Given the description of an element on the screen output the (x, y) to click on. 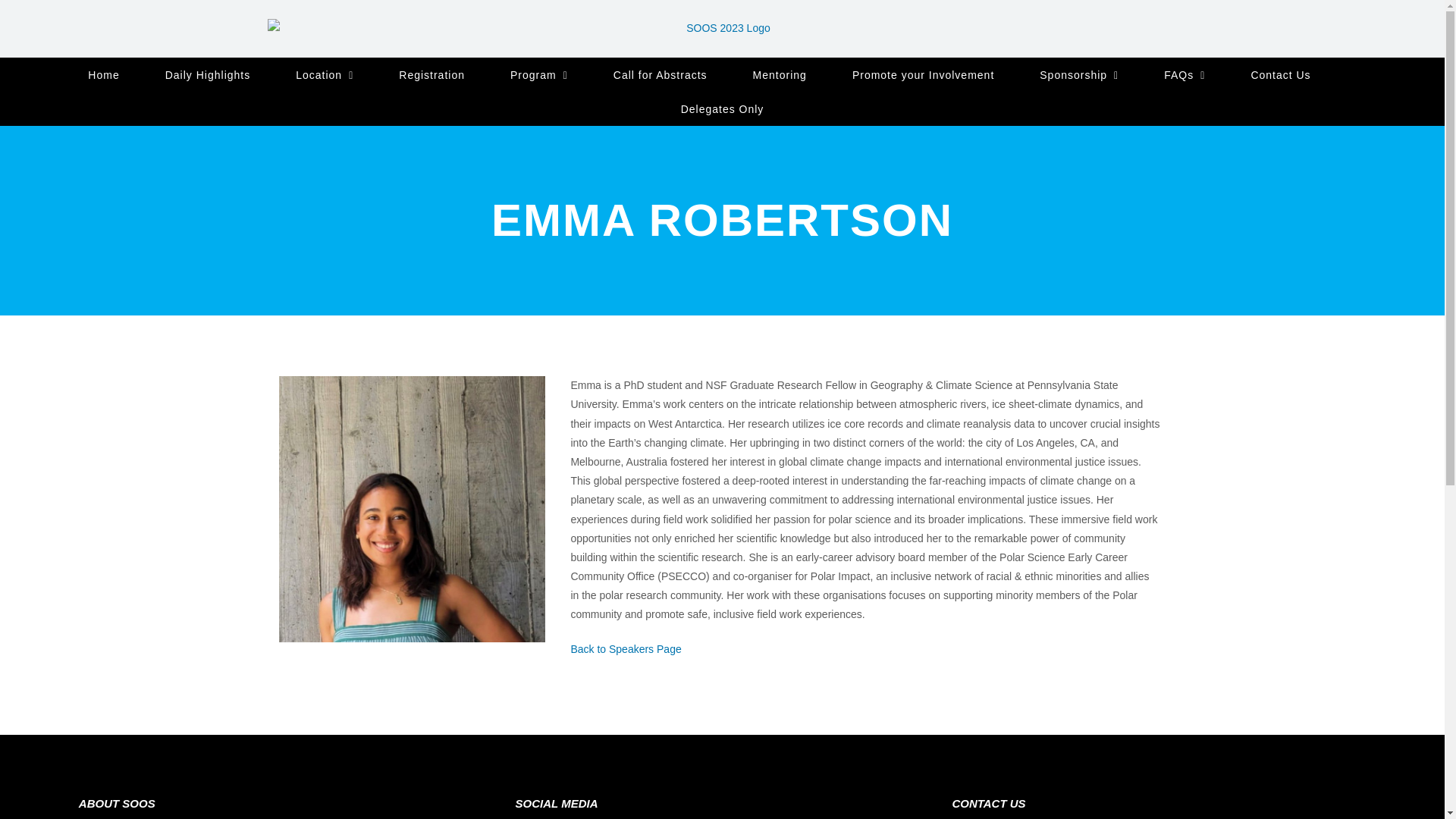
Promote your Involvement (922, 74)
Sponsorship (1078, 74)
Location (324, 74)
Mentoring (779, 74)
Call for Abstracts (659, 74)
Registration (431, 74)
Program (539, 74)
FAQs (1184, 74)
Daily Highlights (207, 74)
Home (103, 74)
